Given the description of an element on the screen output the (x, y) to click on. 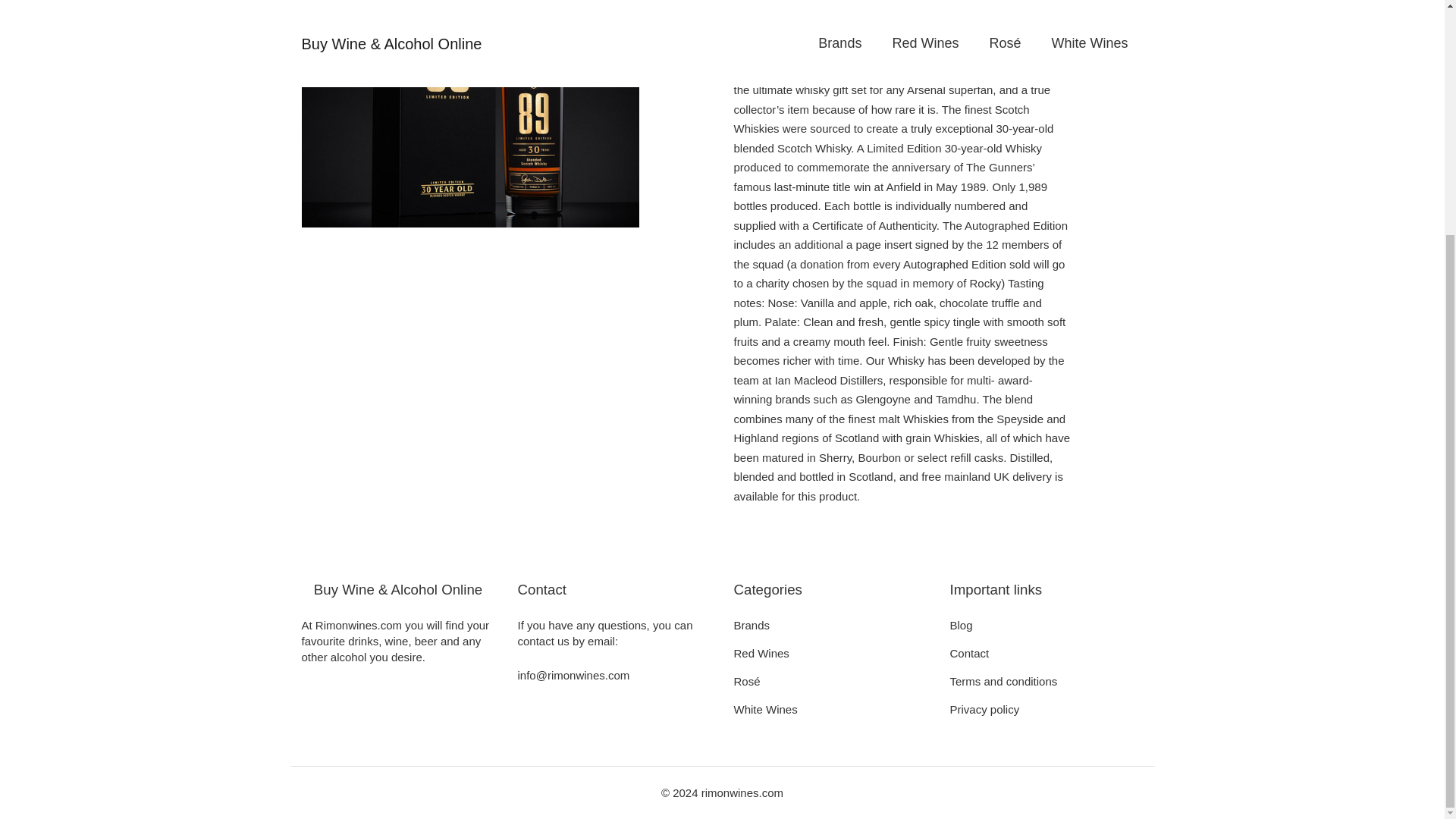
Terms and conditions (1003, 680)
Blog (960, 625)
BUY NOW (789, 12)
Red Wines (761, 653)
Contact (968, 653)
Brands (751, 625)
Privacy policy (984, 708)
White Wines (765, 708)
